Given the description of an element on the screen output the (x, y) to click on. 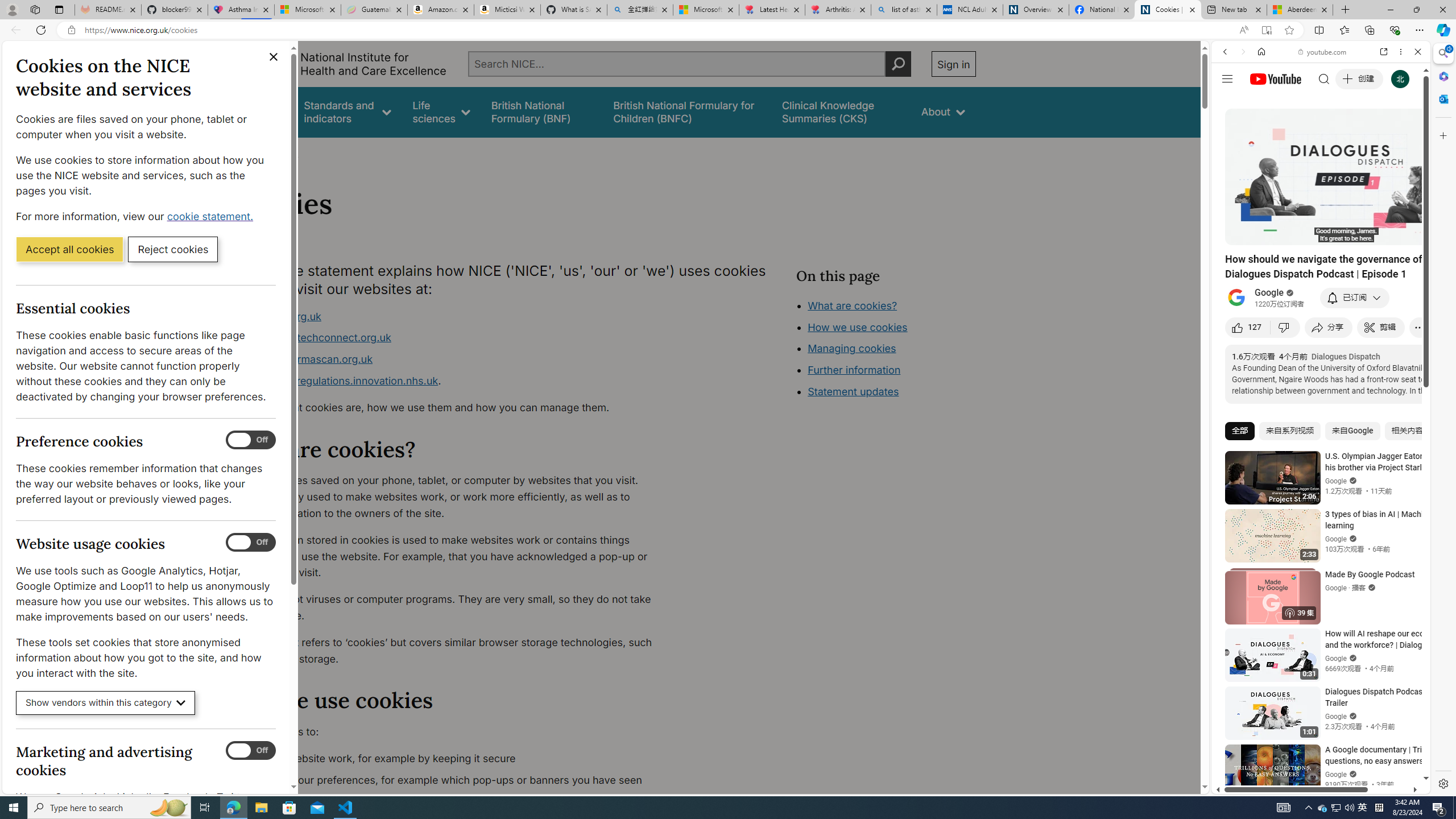
Managing cookies (852, 348)
Search Filter, IMAGES (1262, 129)
Forward (1242, 51)
list of asthma inhalers uk - Search (904, 9)
